Given the description of an element on the screen output the (x, y) to click on. 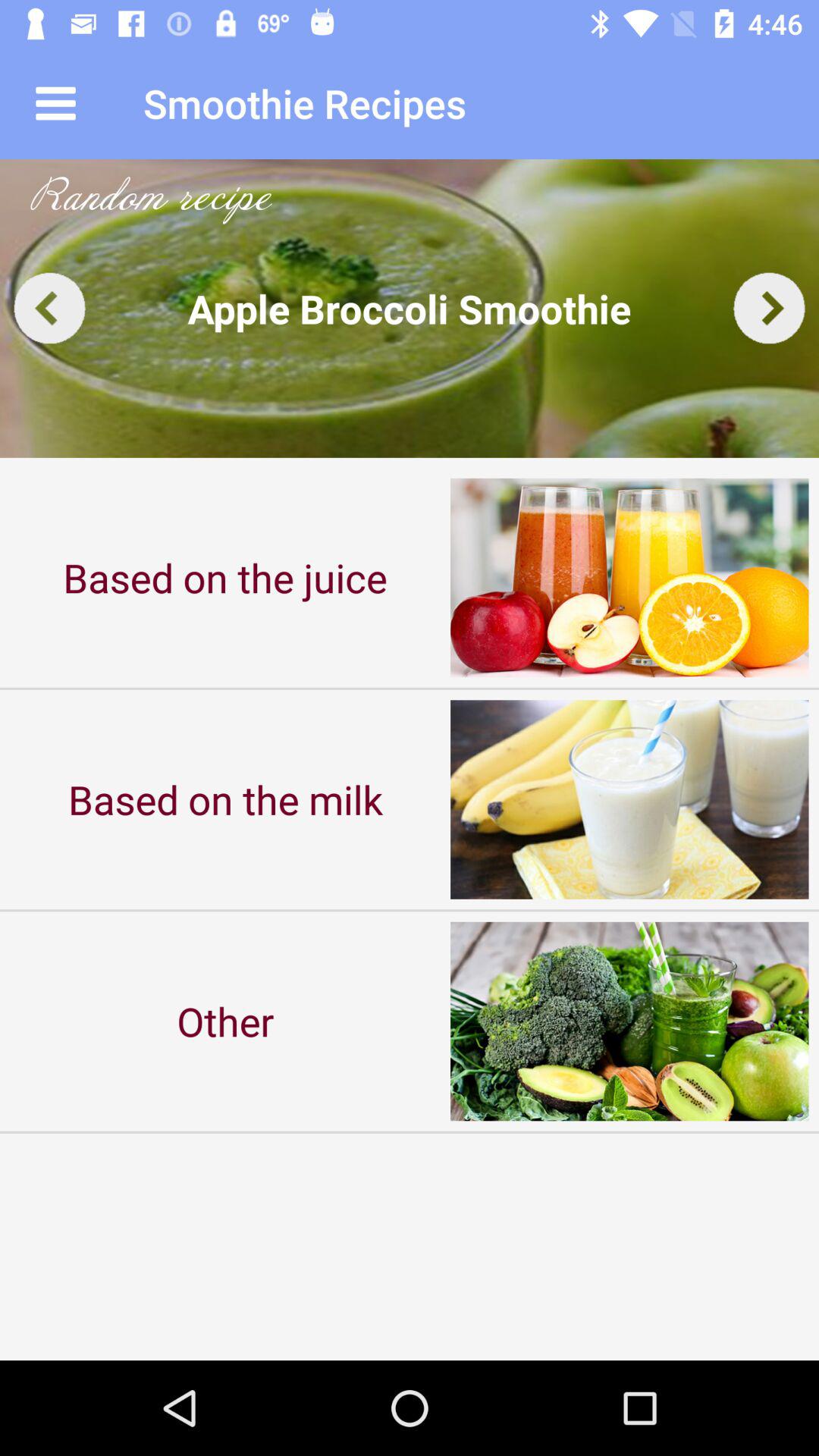
click the app to the left of smoothie recipes app (55, 103)
